Given the description of an element on the screen output the (x, y) to click on. 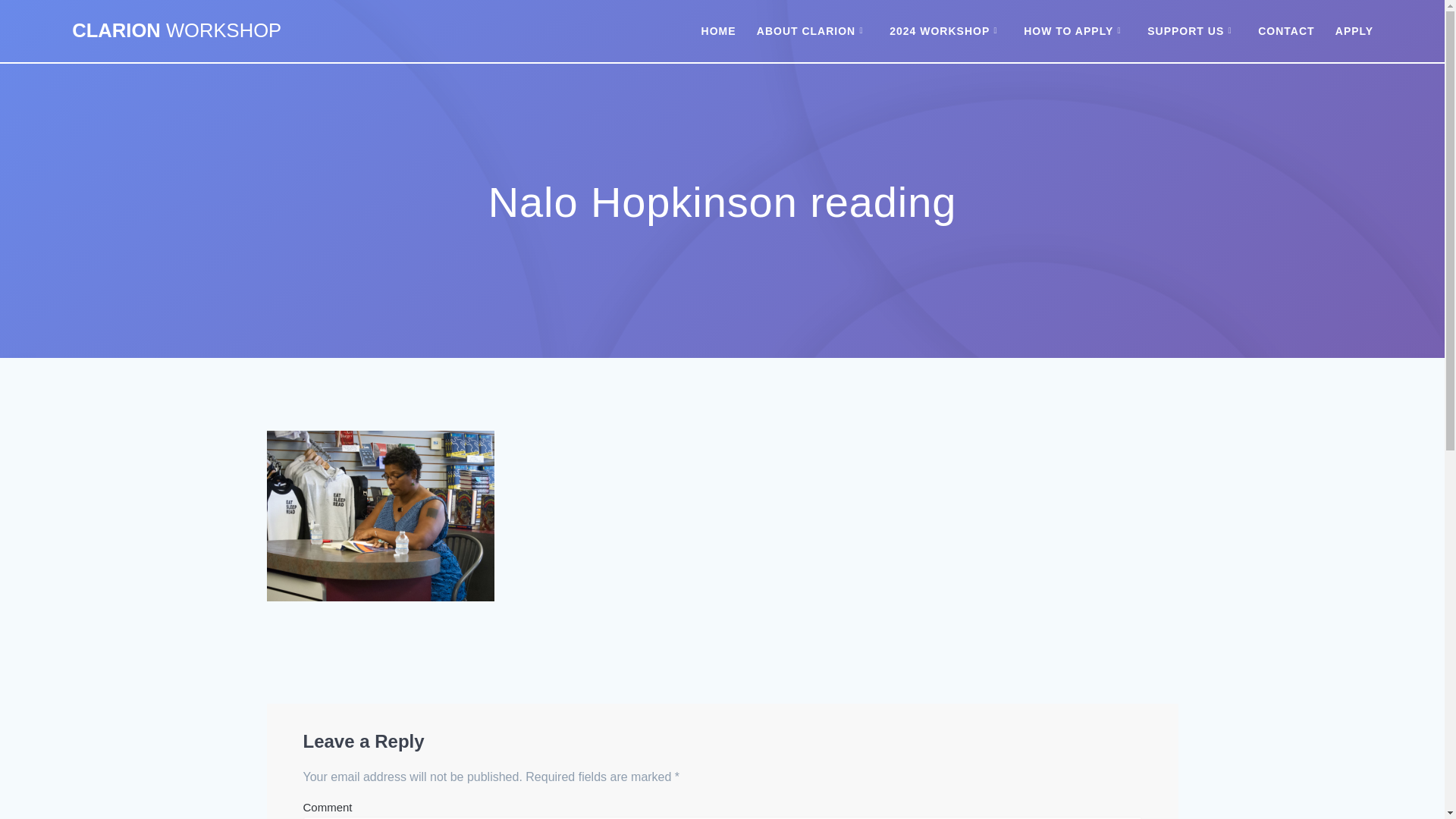
APPLY (1354, 30)
CONTACT (1285, 30)
HOME (718, 30)
2024 WORKSHOP (946, 30)
SUPPORT US (1192, 30)
CLARION WORKSHOP (176, 30)
HOW TO APPLY (1074, 30)
ABOUT CLARION (813, 30)
